Given the description of an element on the screen output the (x, y) to click on. 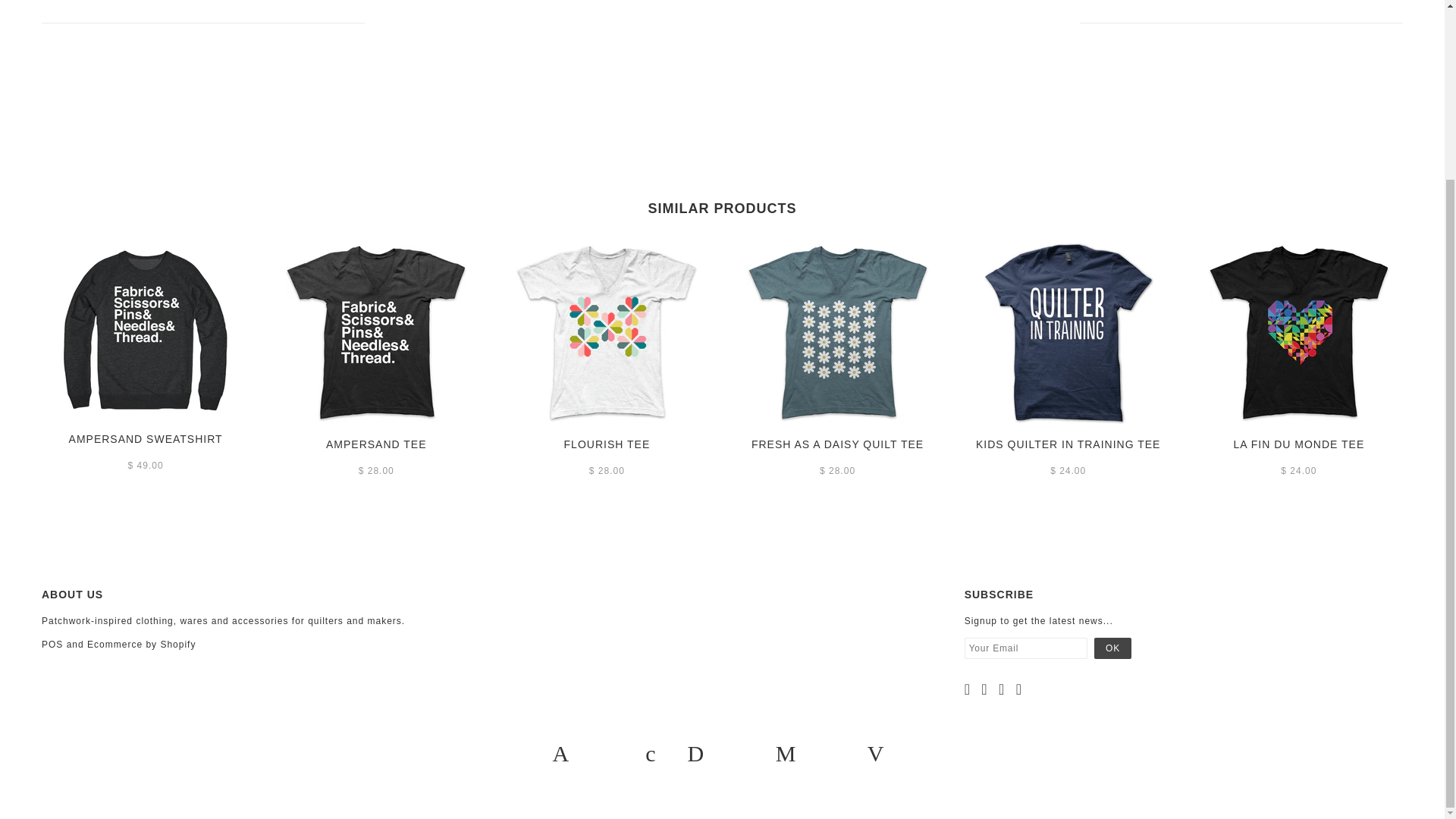
OK (1112, 648)
